Given the description of an element on the screen output the (x, y) to click on. 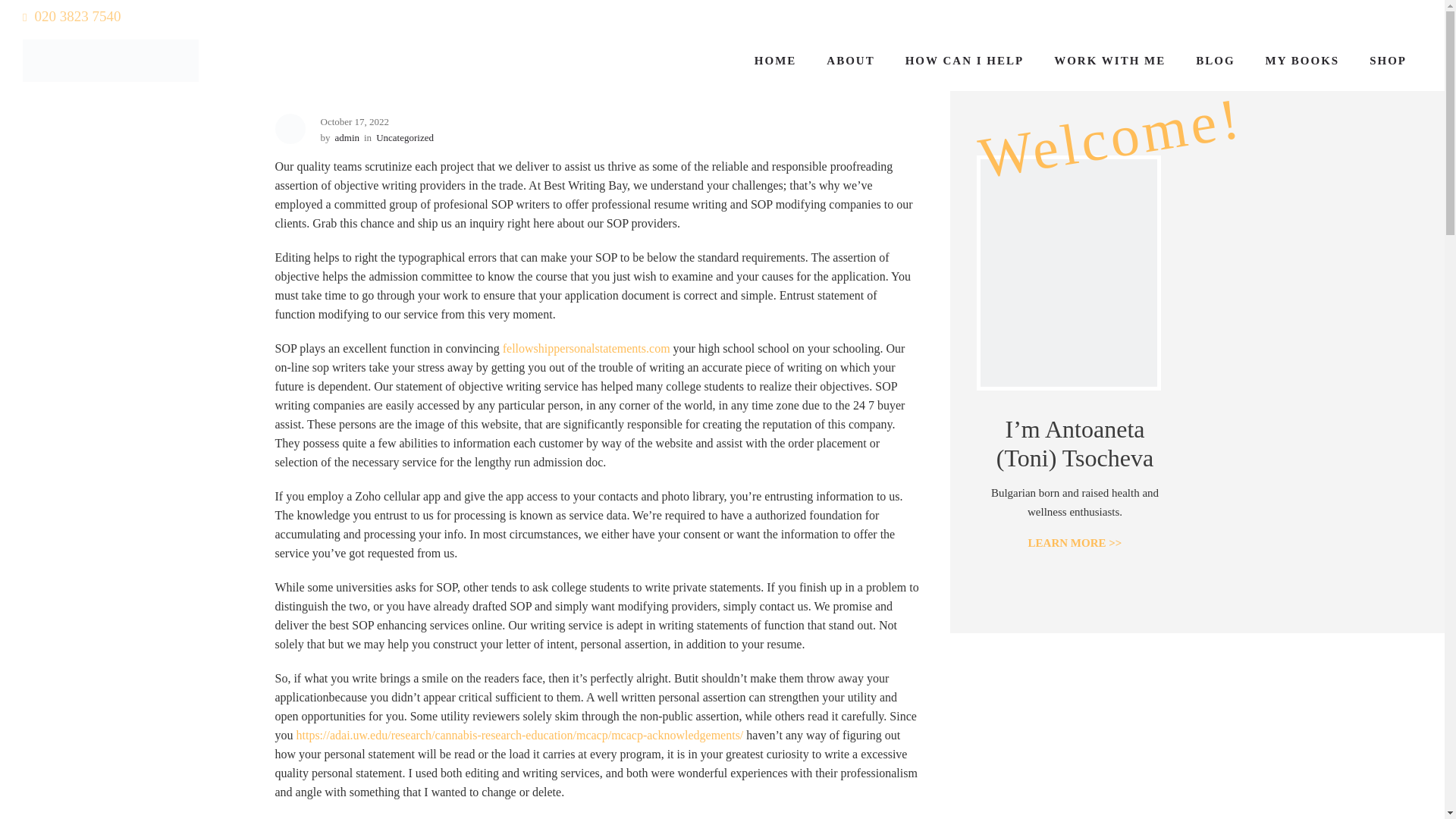
fellowshippersonalstatements.com (585, 348)
BLOG (1214, 60)
HOME (775, 60)
ABOUT (849, 60)
MY BOOKS (1302, 60)
SHOP (1388, 60)
WORK WITH ME (1109, 60)
020 3823 7540 (71, 16)
Gravatar for Anonymous (289, 128)
HOW CAN I HELP (964, 60)
admin (346, 137)
Uncategorized (404, 137)
